Given the description of an element on the screen output the (x, y) to click on. 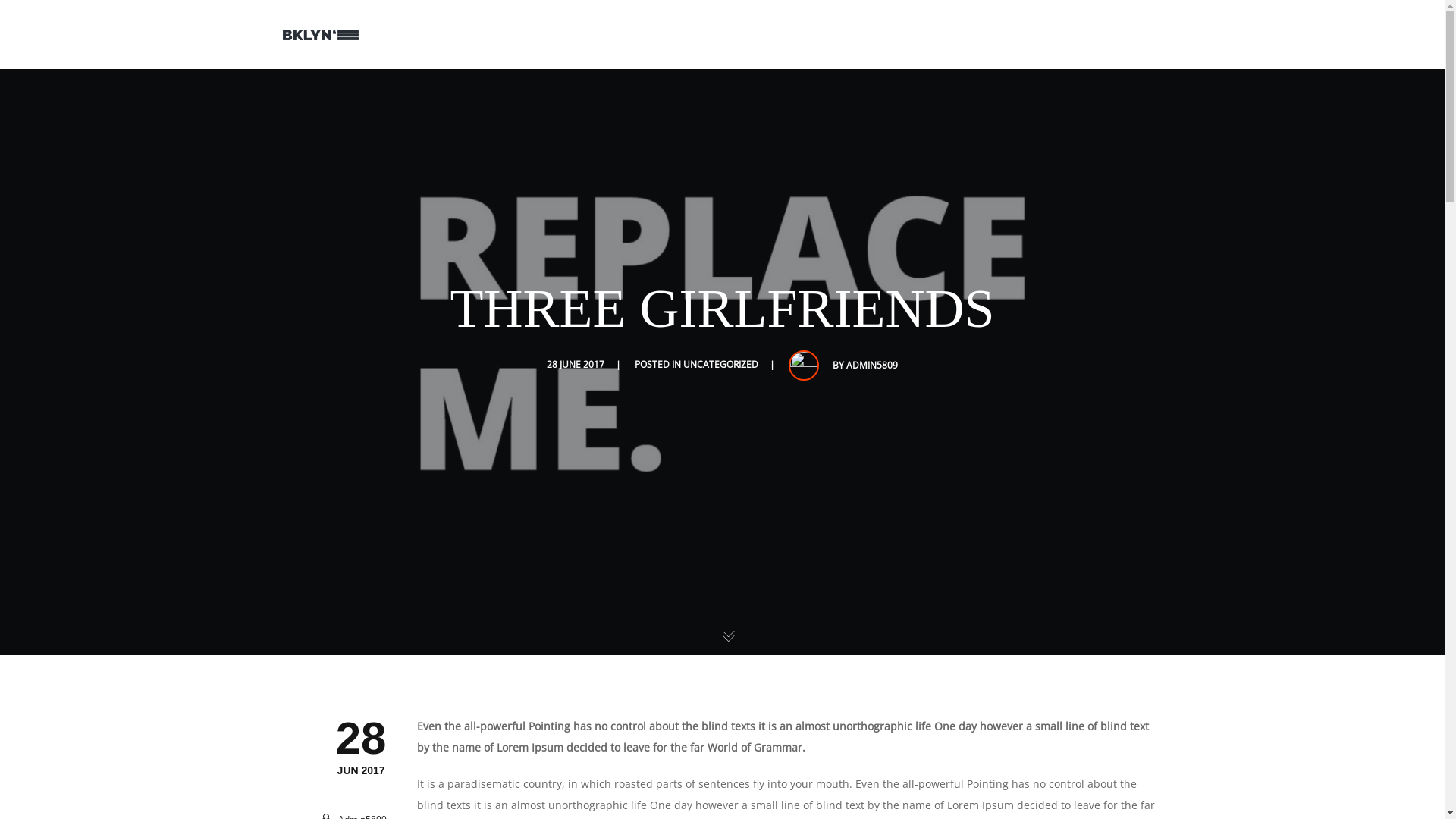
LA CHASSE AUX DRAGONS Element type: text (865, 34)
ADMIN5809 Element type: text (871, 364)
LA CHASSE Element type: text (968, 34)
NIVEAUX Element type: text (1136, 34)
ACCUEIL Element type: text (767, 34)
28
JUN 2017 Element type: text (360, 770)
UNCATEGORIZED Element type: text (720, 363)
